Given the description of an element on the screen output the (x, y) to click on. 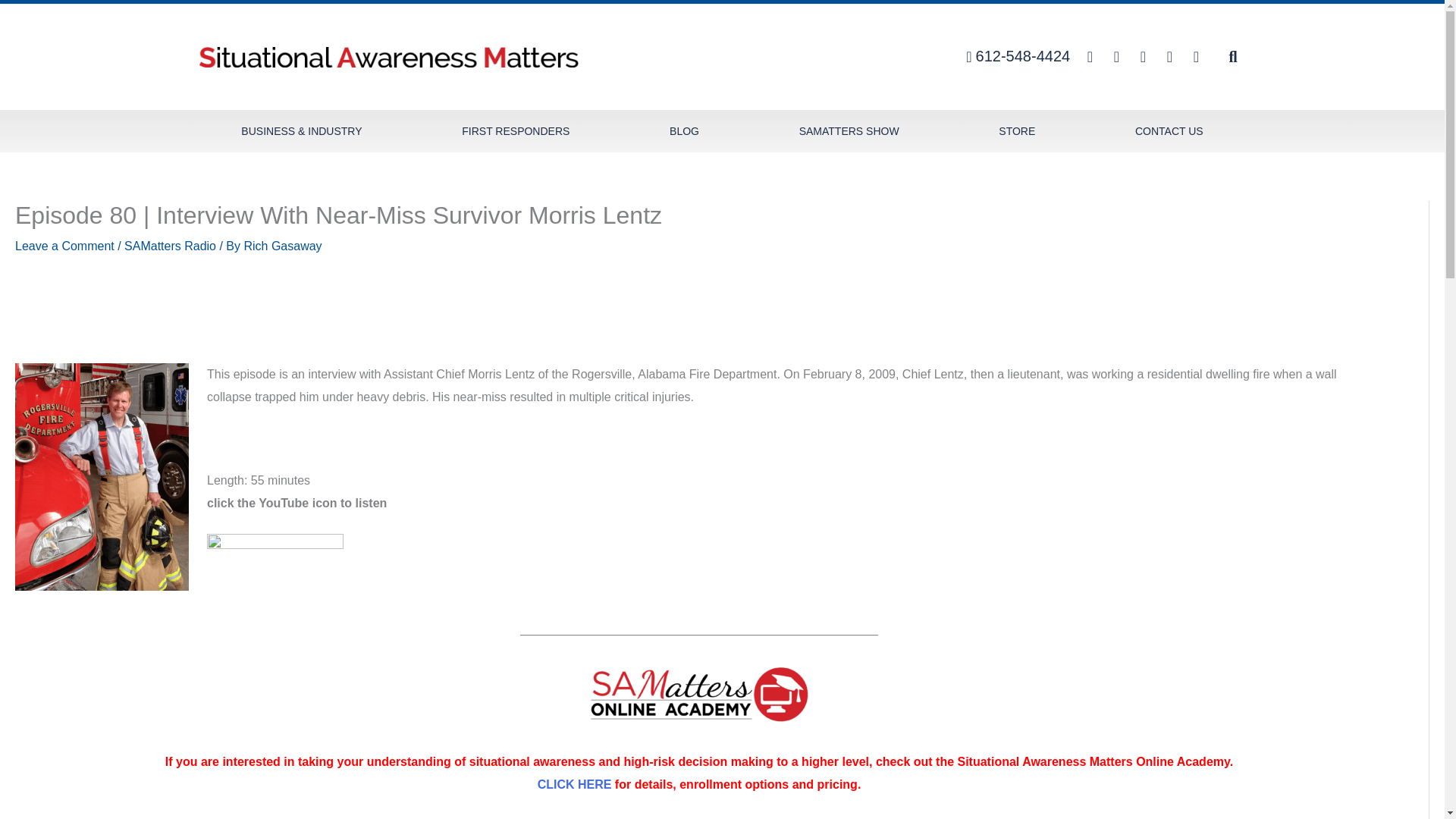
SAMatters Radio (169, 245)
Leave a Comment (64, 245)
612-548-4424 (1011, 56)
BLOG (684, 130)
SAMATTERS SHOW (849, 130)
Rich Gasaway (282, 245)
sam-logo (388, 56)
STORE (1016, 130)
View all posts by Rich Gasaway (282, 245)
FIRST RESPONDERS (516, 130)
